Given the description of an element on the screen output the (x, y) to click on. 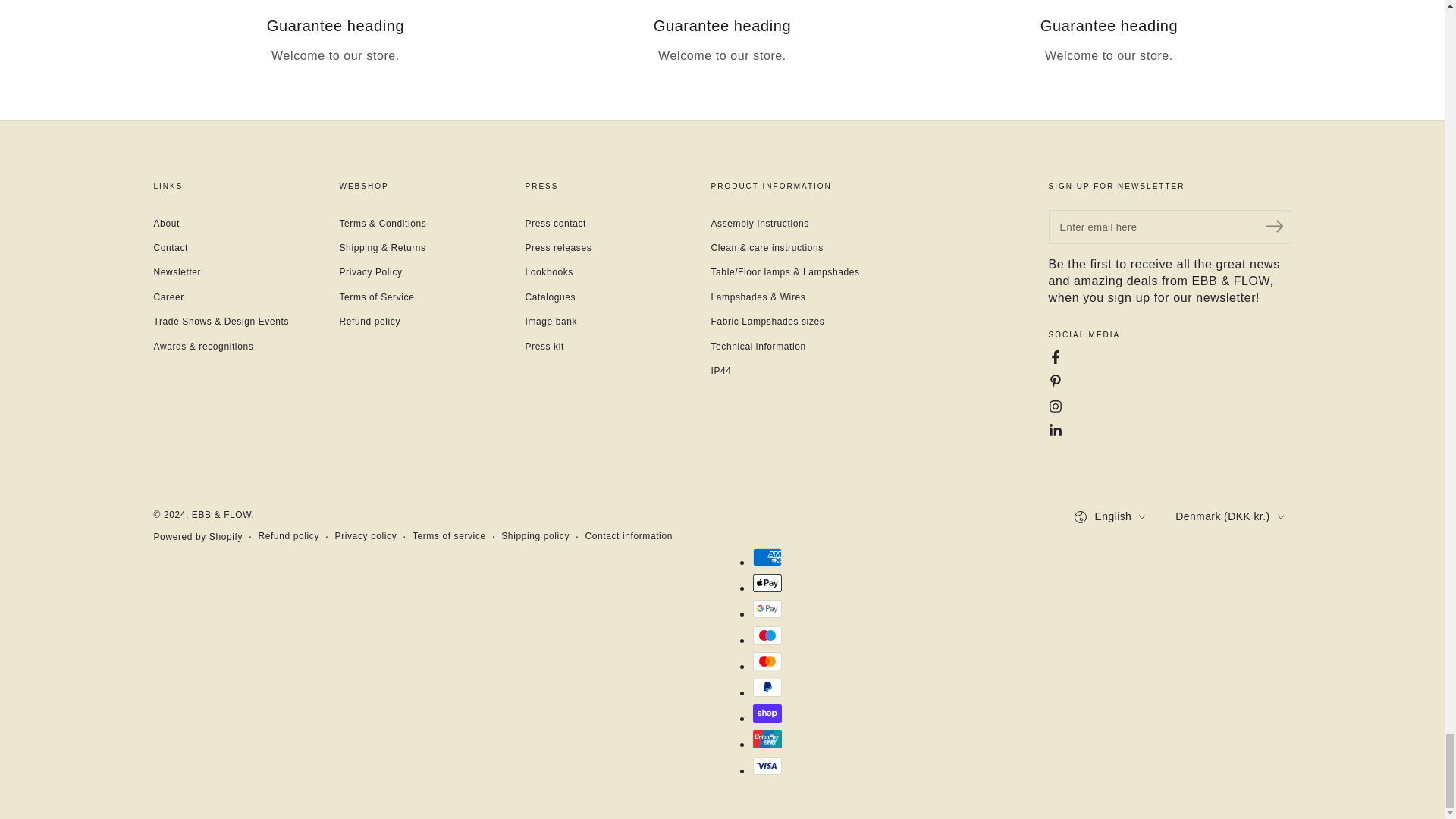
Maestro (766, 635)
Apple Pay (766, 583)
Google Pay (766, 608)
American Express (766, 556)
